Given the description of an element on the screen output the (x, y) to click on. 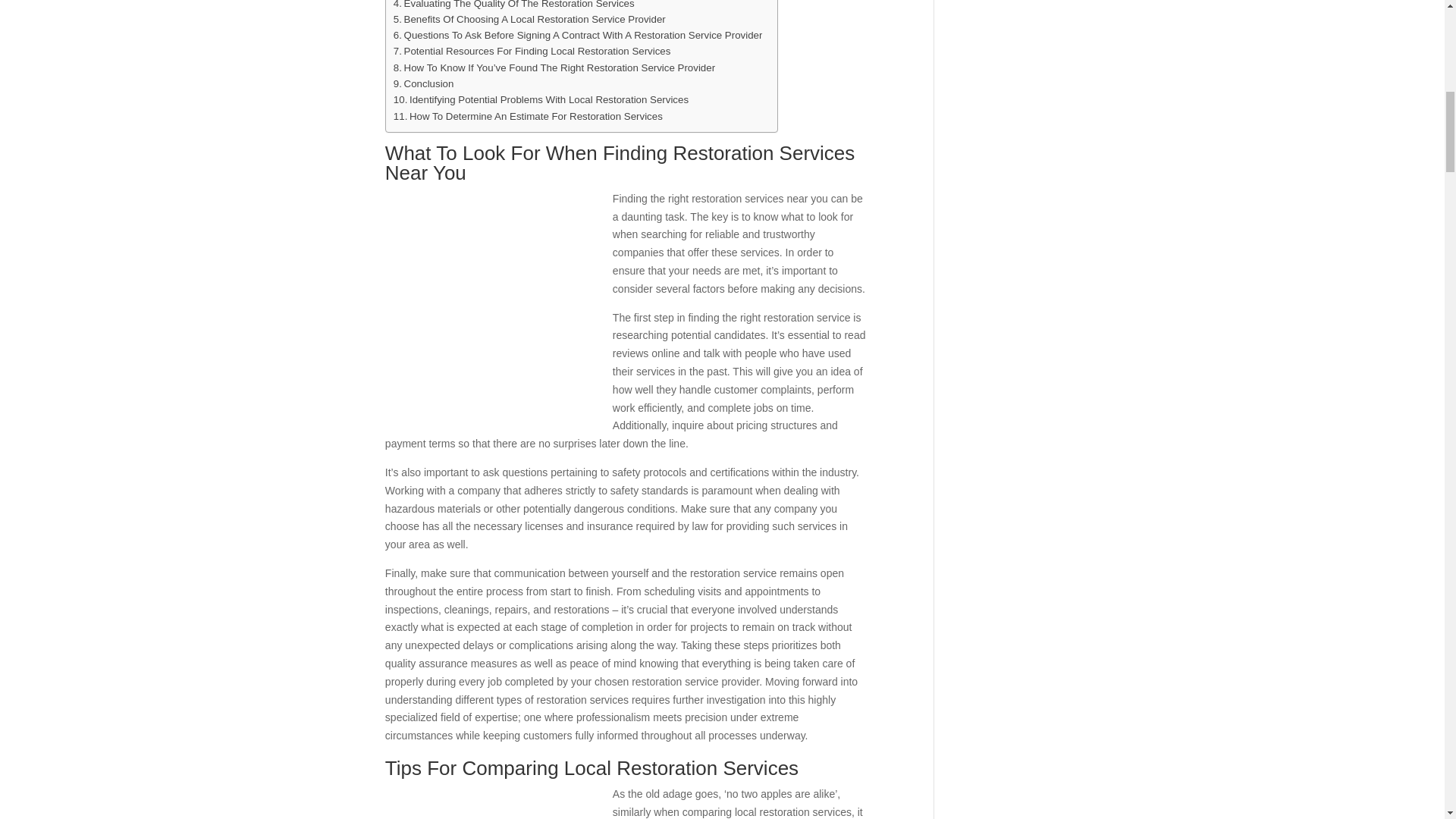
Conclusion (423, 83)
Evaluating The Quality Of The Restoration Services (513, 5)
Benefits Of Choosing A Local Restoration Service Provider (529, 19)
Restoration Services Near Me: How To Find The Right One 3 (498, 307)
Potential Resources For Finding Local Restoration Services (532, 50)
Evaluating The Quality Of The Restoration Services (513, 5)
Benefits Of Choosing A Local Restoration Service Provider (529, 19)
